Given the description of an element on the screen output the (x, y) to click on. 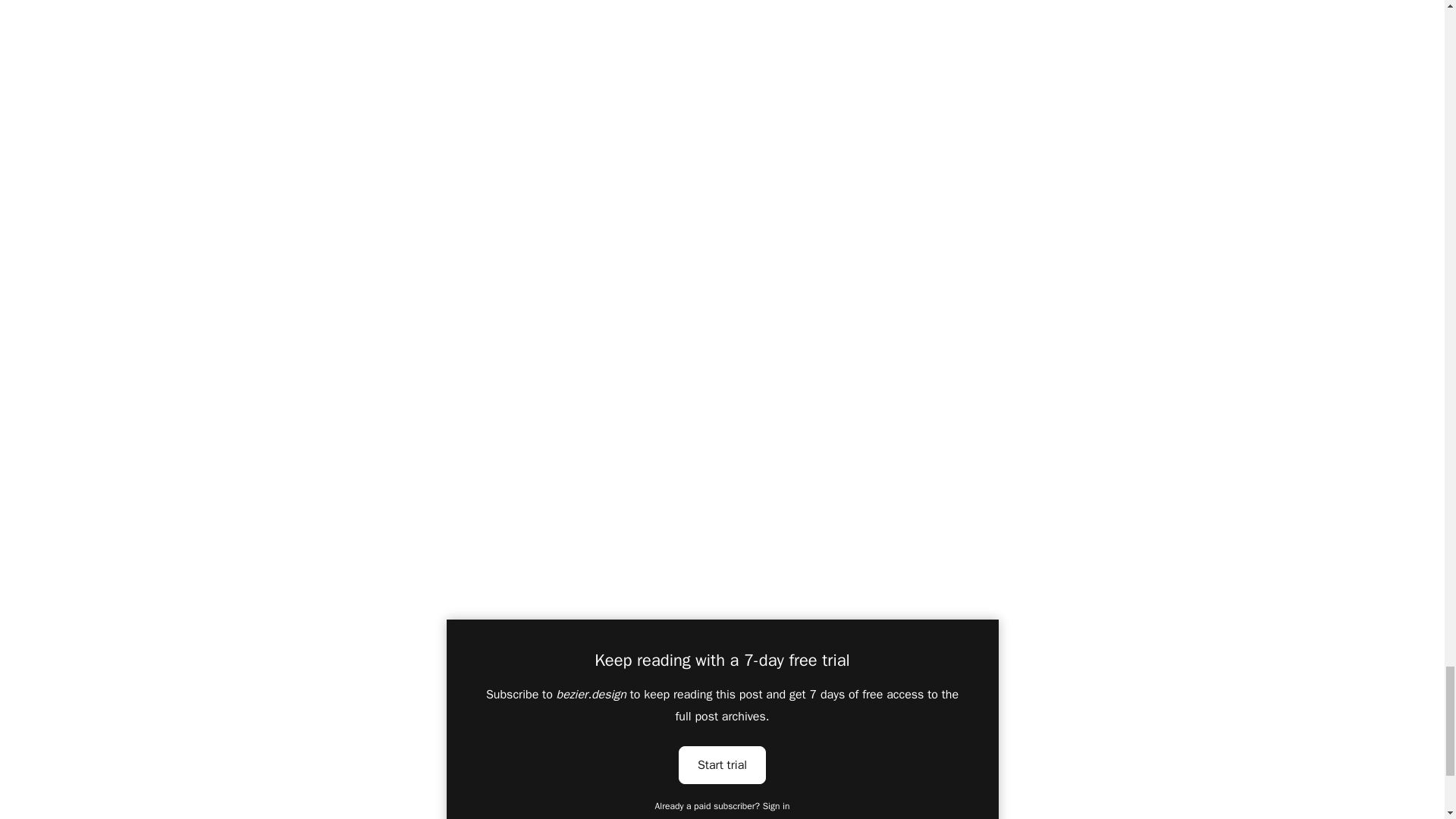
Start trial (721, 764)
Already a paid subscriber? Sign in (722, 806)
Start trial (721, 764)
